Given the description of an element on the screen output the (x, y) to click on. 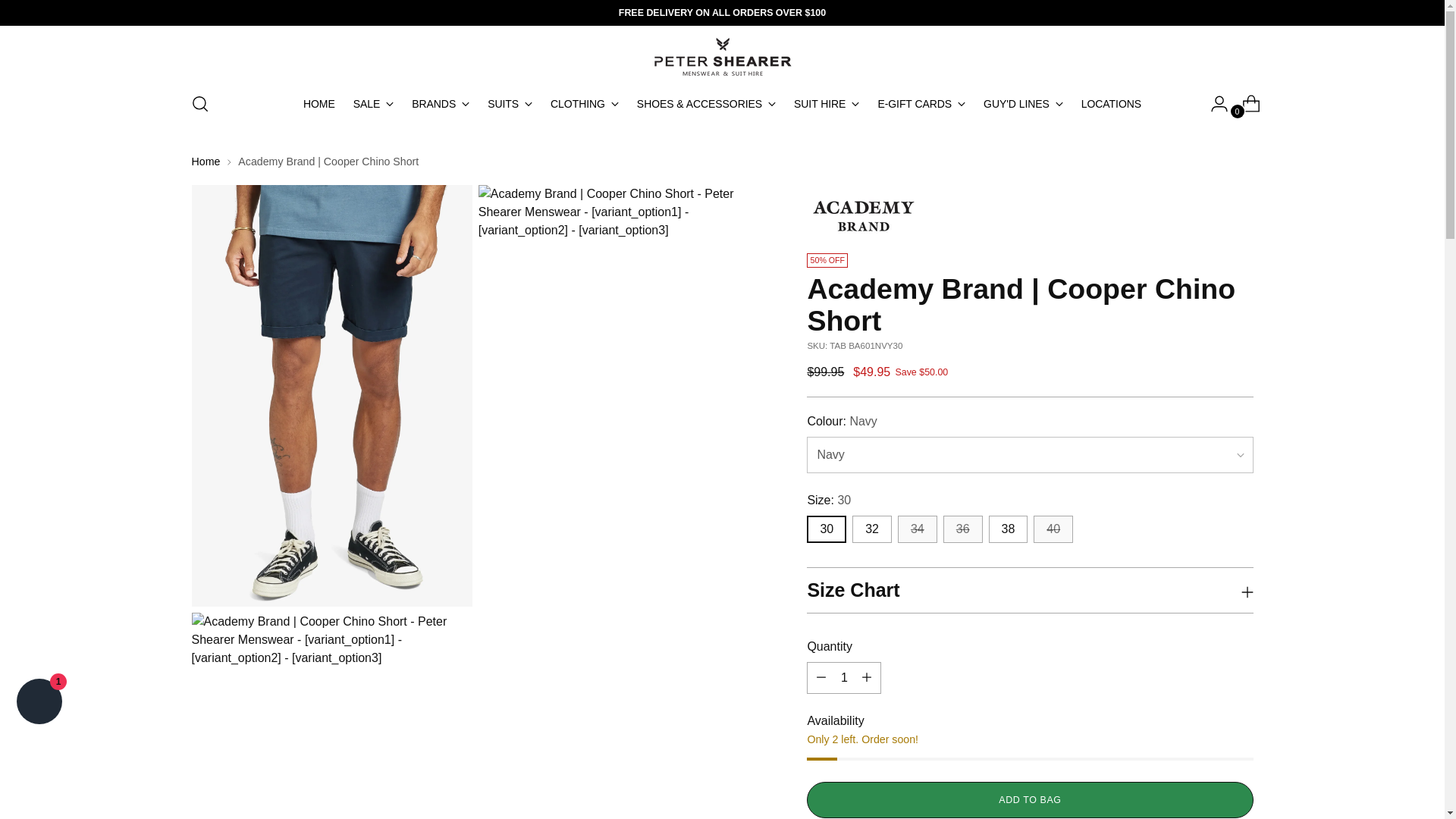
BRANDS (440, 103)
1 (843, 677)
HOME (318, 103)
SALE (373, 103)
Shopify online store chat (38, 703)
